Given the description of an element on the screen output the (x, y) to click on. 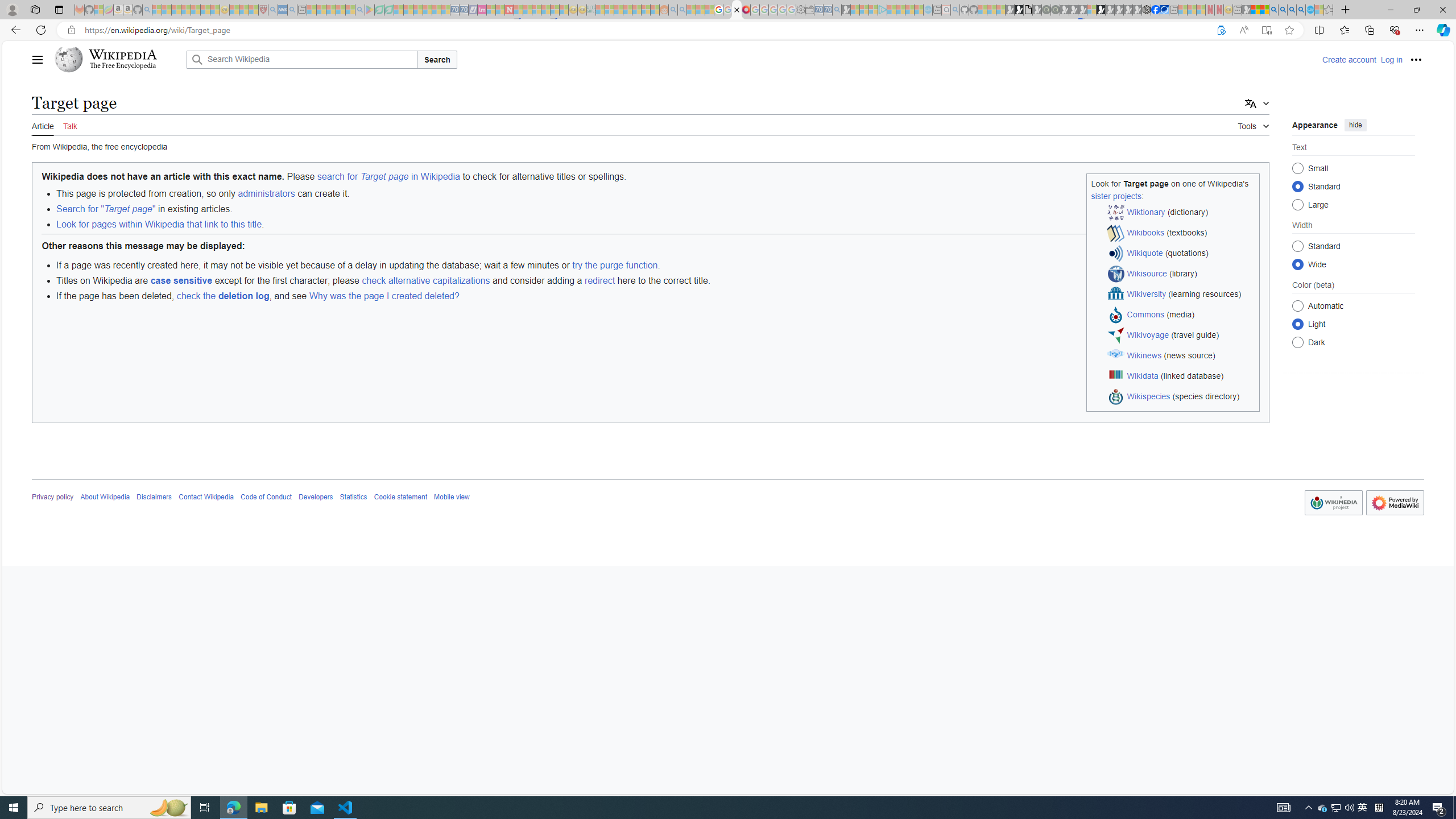
Wikiquote (quotations) (1181, 253)
Commons (media) (1181, 314)
